Given the description of an element on the screen output the (x, y) to click on. 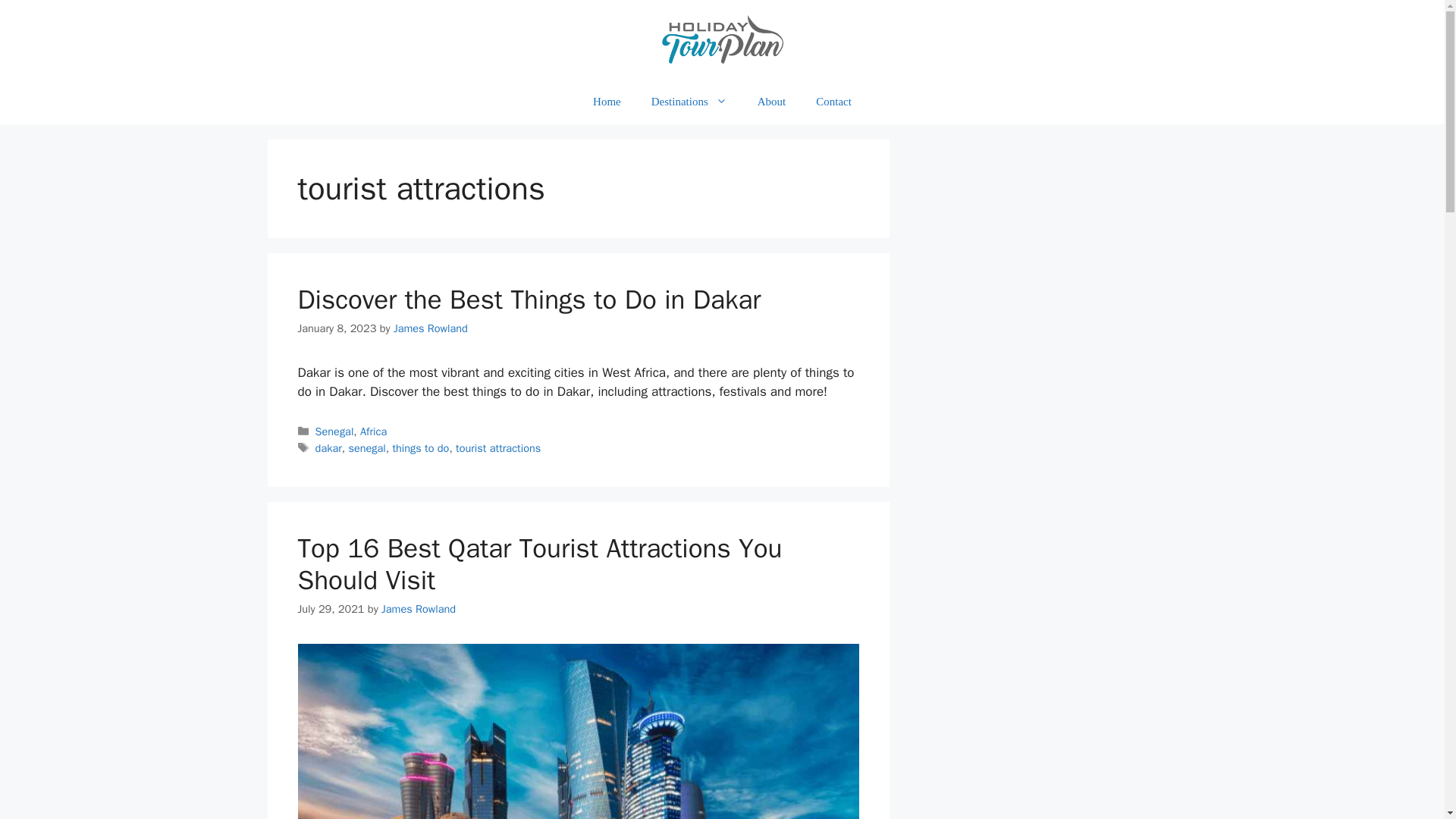
Contact (833, 101)
Home (607, 101)
View all posts by James Rowland (430, 327)
View all posts by James Rowland (418, 608)
Discover the Best Things to Do in Dakar (528, 299)
About (772, 101)
Africa (373, 431)
tourist attractions (497, 448)
dakar (328, 448)
senegal (366, 448)
James Rowland (430, 327)
things to do (419, 448)
James Rowland (418, 608)
Top 16 Best Qatar Tourist Attractions You Should Visit (539, 564)
Destinations (689, 101)
